Given the description of an element on the screen output the (x, y) to click on. 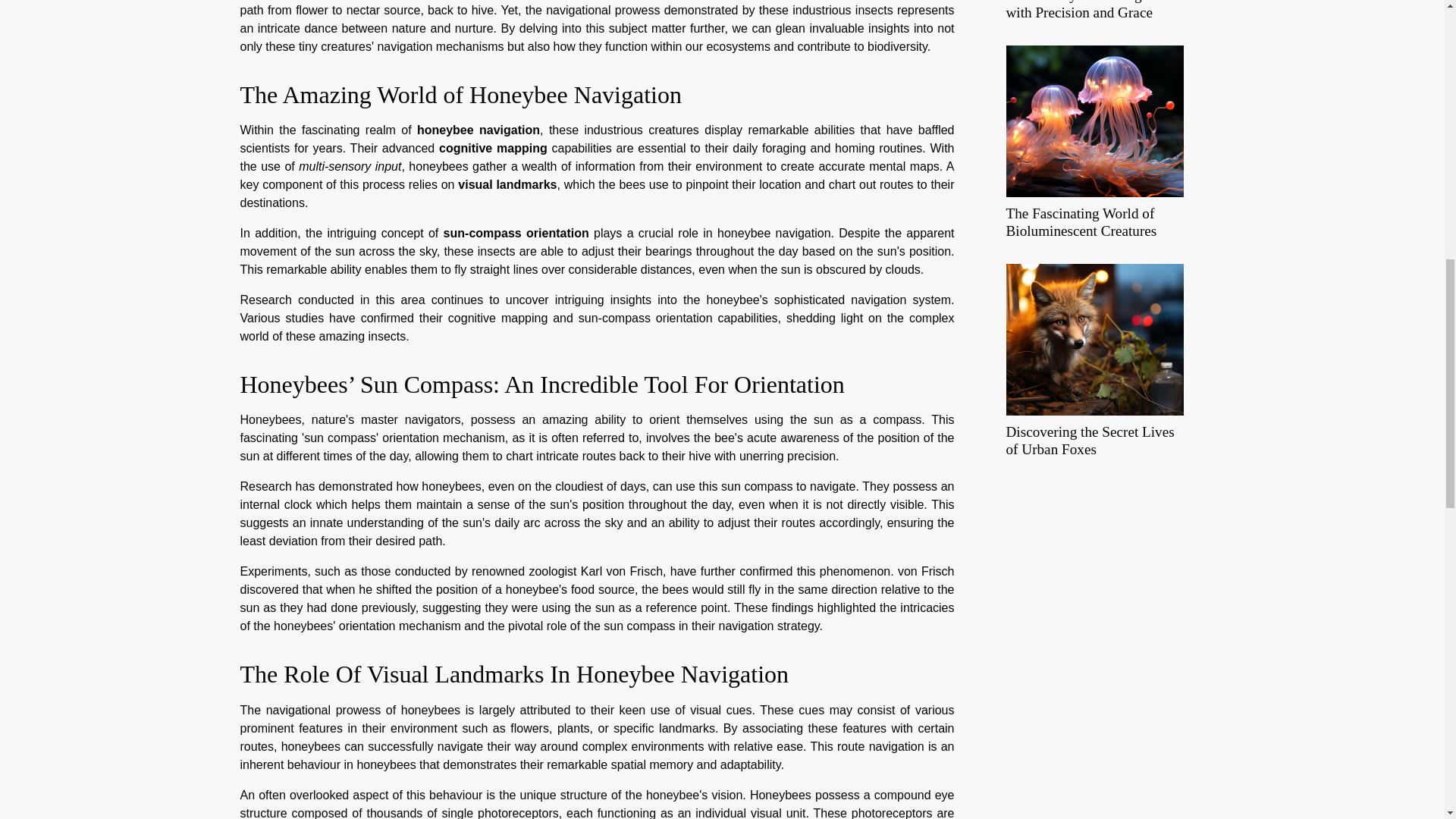
The Fascinating World of Bioluminescent Creatures (1094, 119)
The Fascinating World of Bioluminescent Creatures (1081, 222)
How Honeybees Navigate with Precision and Grace (1081, 10)
Discovering the Secret Lives of Urban Foxes (1089, 440)
The Fascinating World of Bioluminescent Creatures (1081, 222)
How Honeybees Navigate with Precision and Grace (1081, 10)
Discovering the Secret Lives of Urban Foxes (1089, 440)
Discovering the Secret Lives of Urban Foxes (1094, 338)
